Given the description of an element on the screen output the (x, y) to click on. 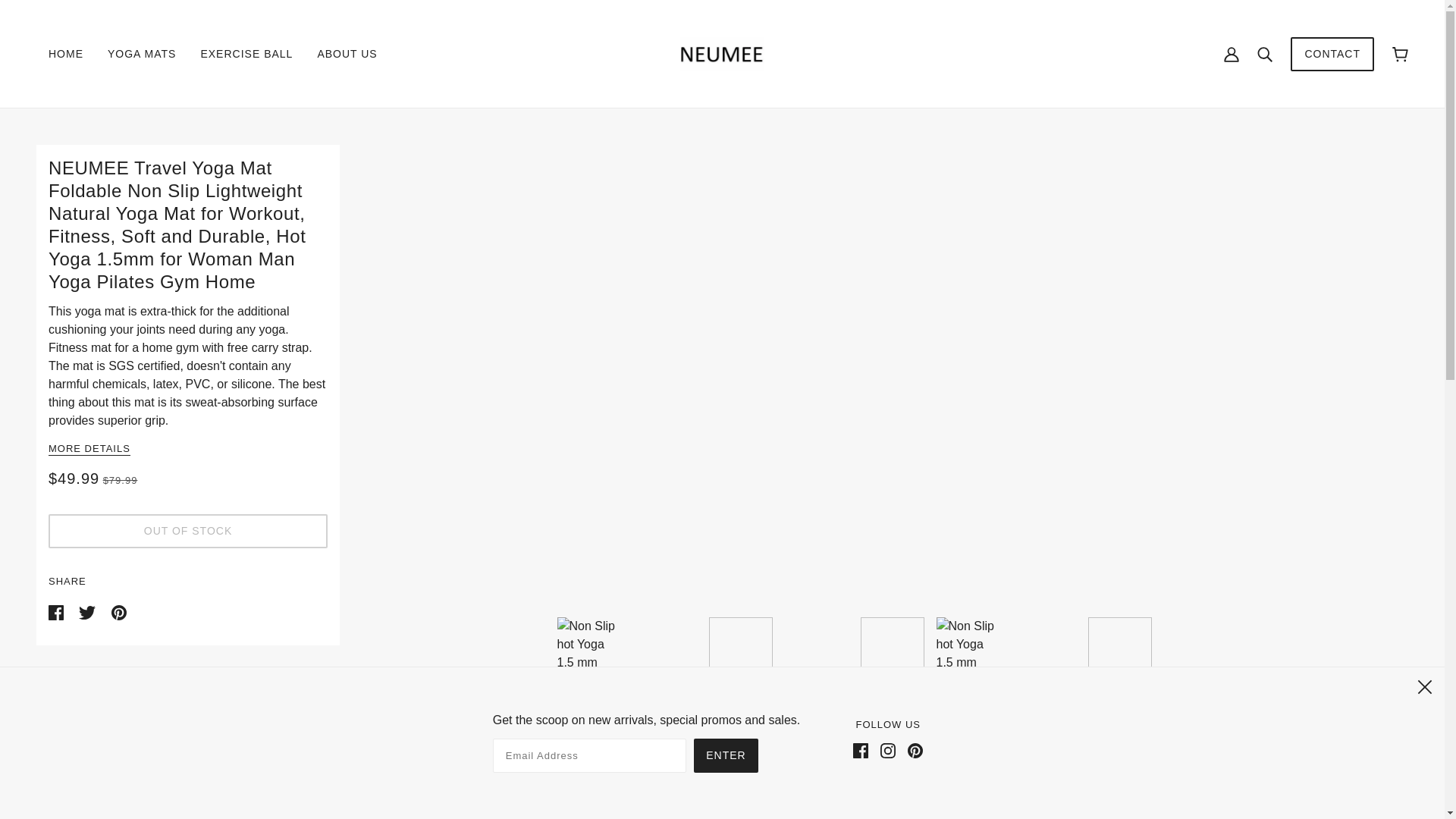
Instagram (888, 749)
EXERCISE BALL (245, 53)
ABOUT US (346, 53)
CONTACT (1332, 60)
YOGA MATS (141, 53)
OUT OF STOCK (187, 530)
MORE DETAILS (89, 449)
HOME (66, 53)
